Given the description of an element on the screen output the (x, y) to click on. 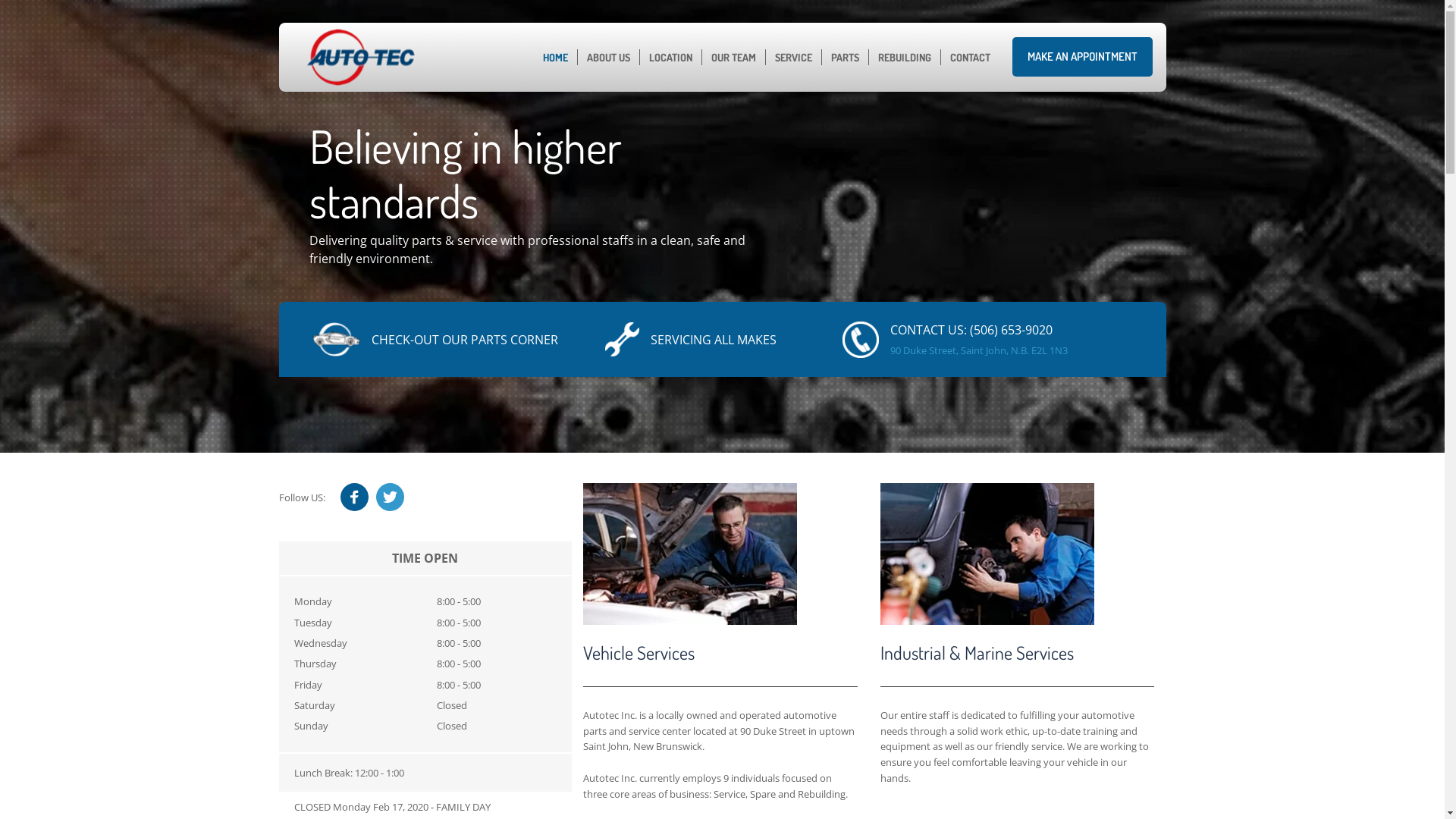
ABOUT US Element type: text (608, 57)
PARTS Element type: text (844, 57)
HOME Element type: text (555, 57)
MAKE AN APPOINTMENT Element type: text (1082, 56)
SERVICE Element type: text (793, 57)
OUR TEAM Element type: text (733, 57)
LOCATION Element type: text (670, 57)
REBUILDING Element type: text (904, 57)
CONTACT Element type: text (970, 57)
